Given the description of an element on the screen output the (x, y) to click on. 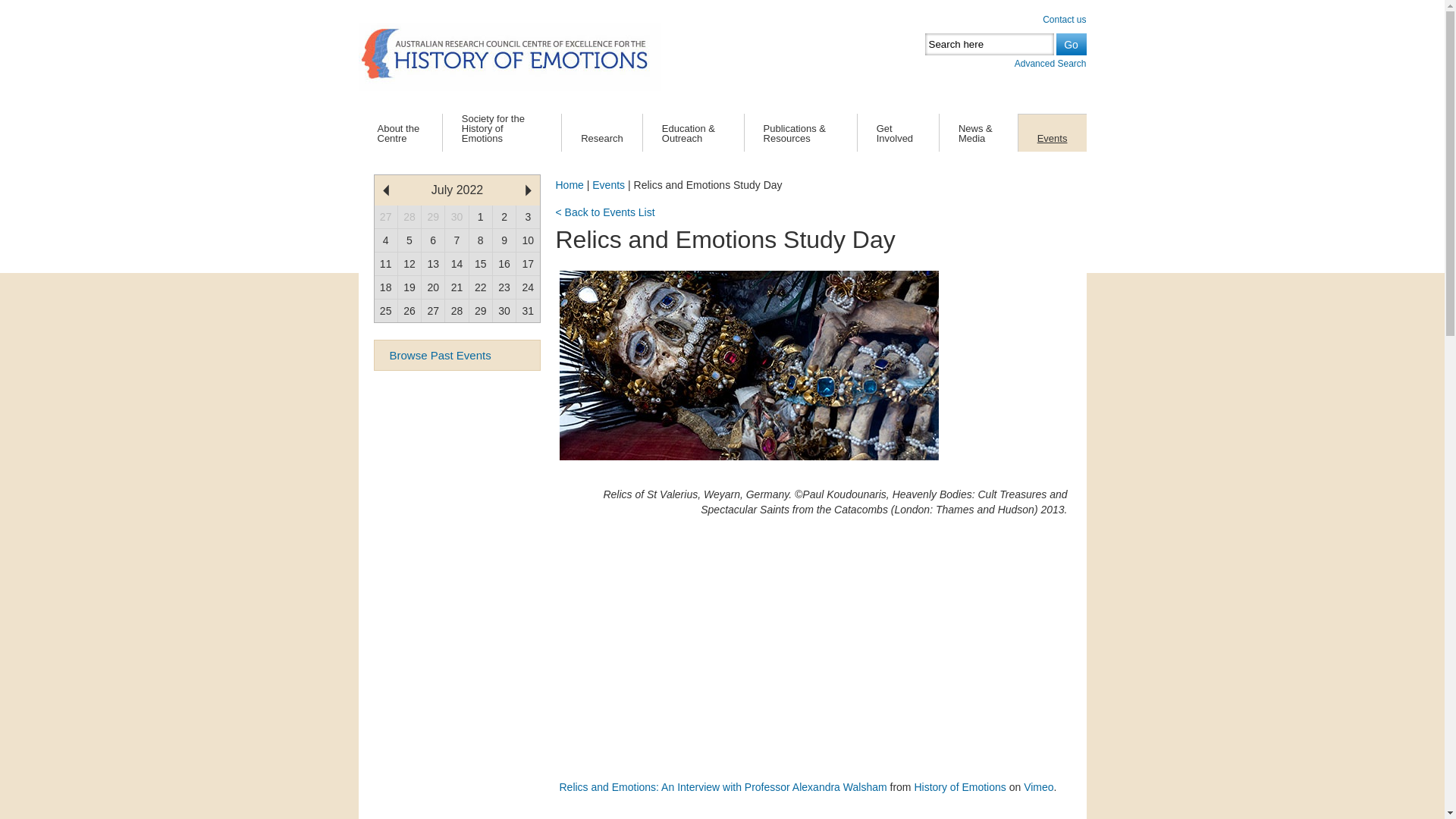
Get Involved Element type: text (897, 136)
< Back to Events List Element type: text (604, 212)
About the Centre Element type: text (399, 136)
Events Element type: text (1052, 136)
Advanced Search Element type: text (1050, 63)
Research Element type: text (601, 136)
Education & Outreach Element type: text (693, 136)
Publications & Resources Element type: text (800, 136)
Go Element type: text (1070, 44)
History of Emotions Element type: text (959, 787)
< Element type: text (386, 190)
Events Element type: text (608, 184)
News & Media Element type: text (978, 136)
Contact us Element type: text (1063, 19)
Browse Past Events Element type: text (456, 355)
Society for the History of Emotions Element type: text (501, 133)
Home Element type: text (569, 184)
Vimeo Element type: text (1038, 787)
> Element type: text (527, 190)
